Given the description of an element on the screen output the (x, y) to click on. 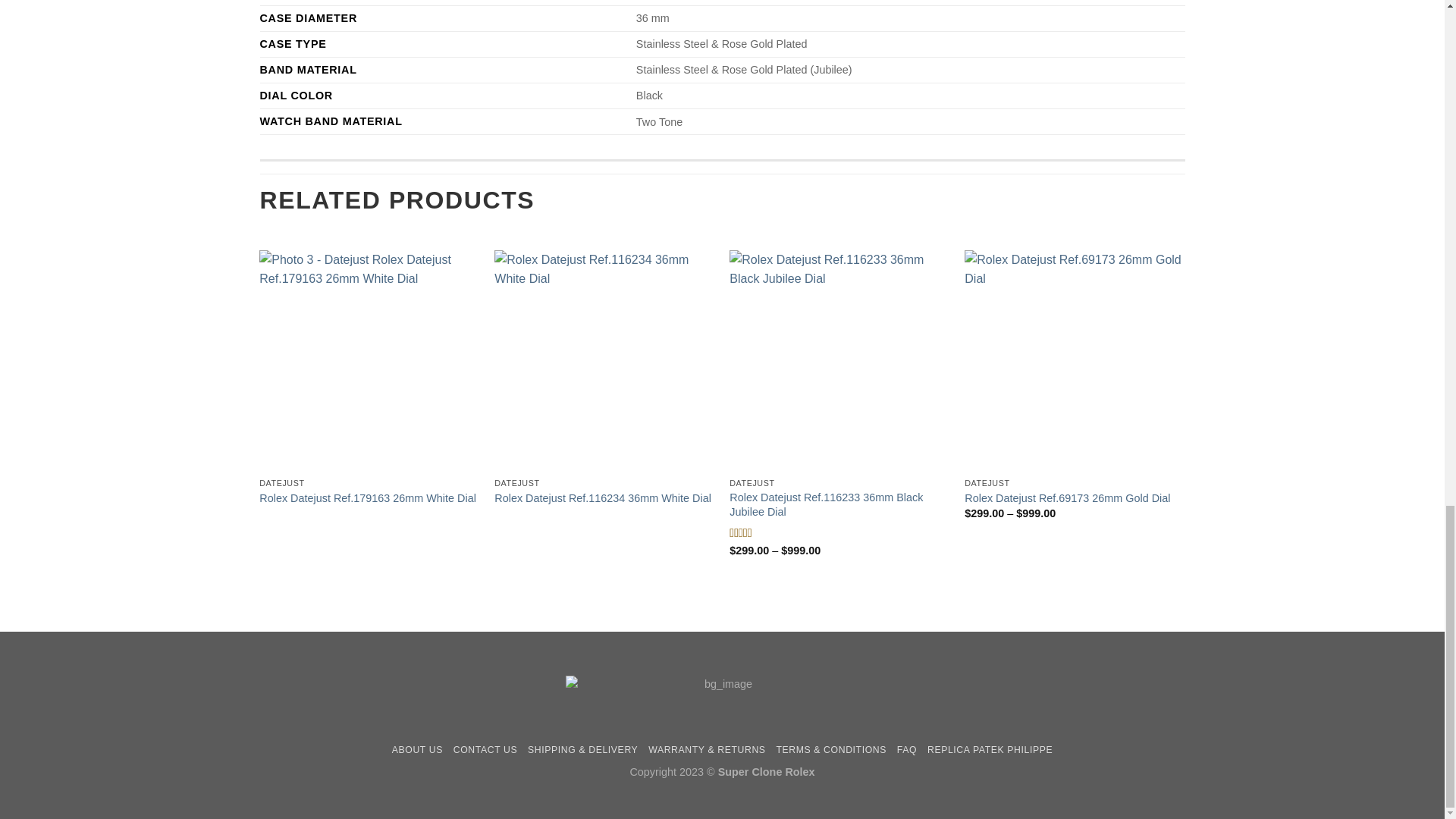
Submit (321, 603)
